Given the description of an element on the screen output the (x, y) to click on. 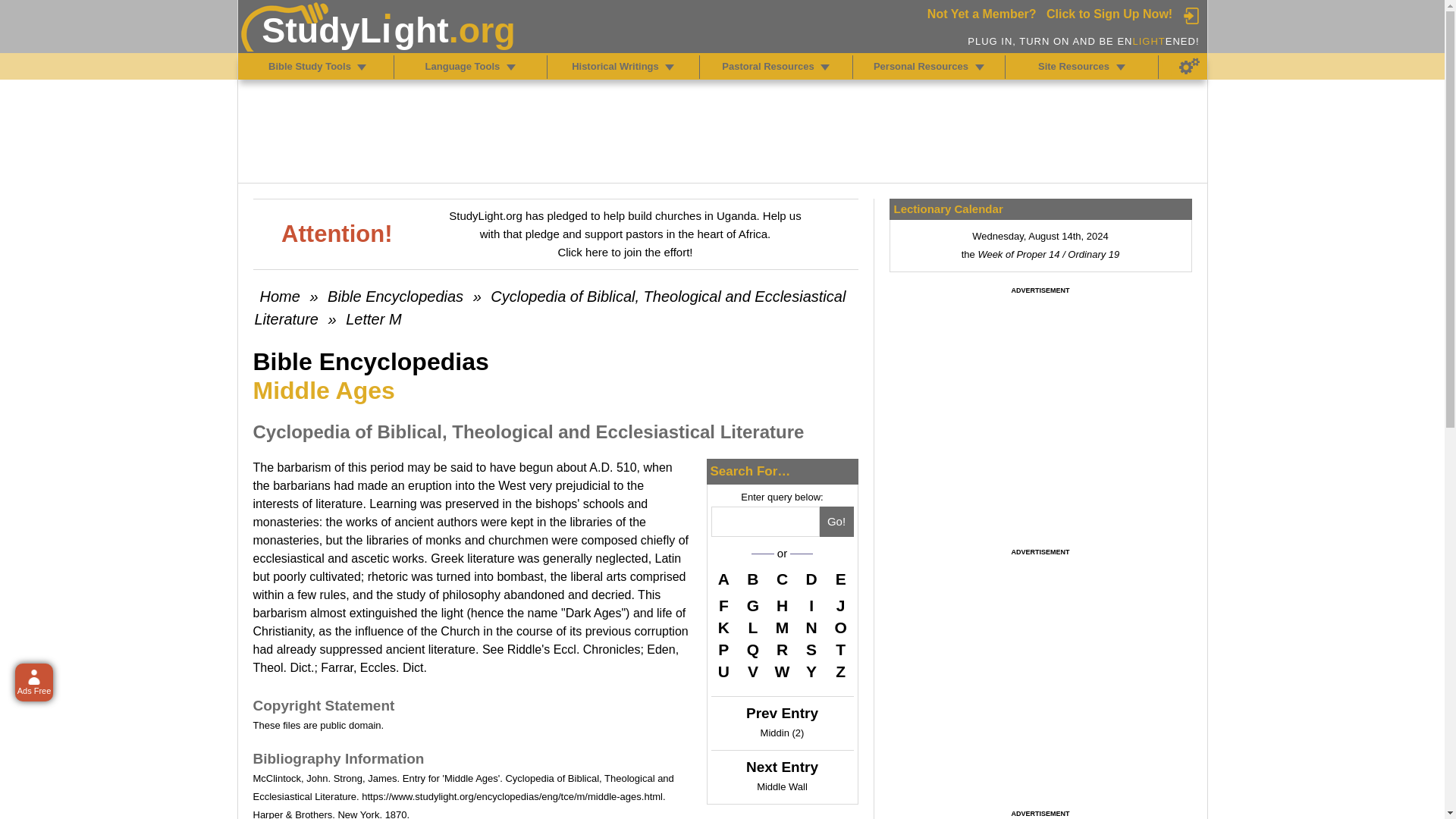
W (782, 671)
Click to Sign Up Now! (1109, 13)
Go! (835, 521)
P (723, 649)
M (782, 628)
F (723, 606)
Go! (835, 521)
D (810, 581)
B (752, 581)
